Given the description of an element on the screen output the (x, y) to click on. 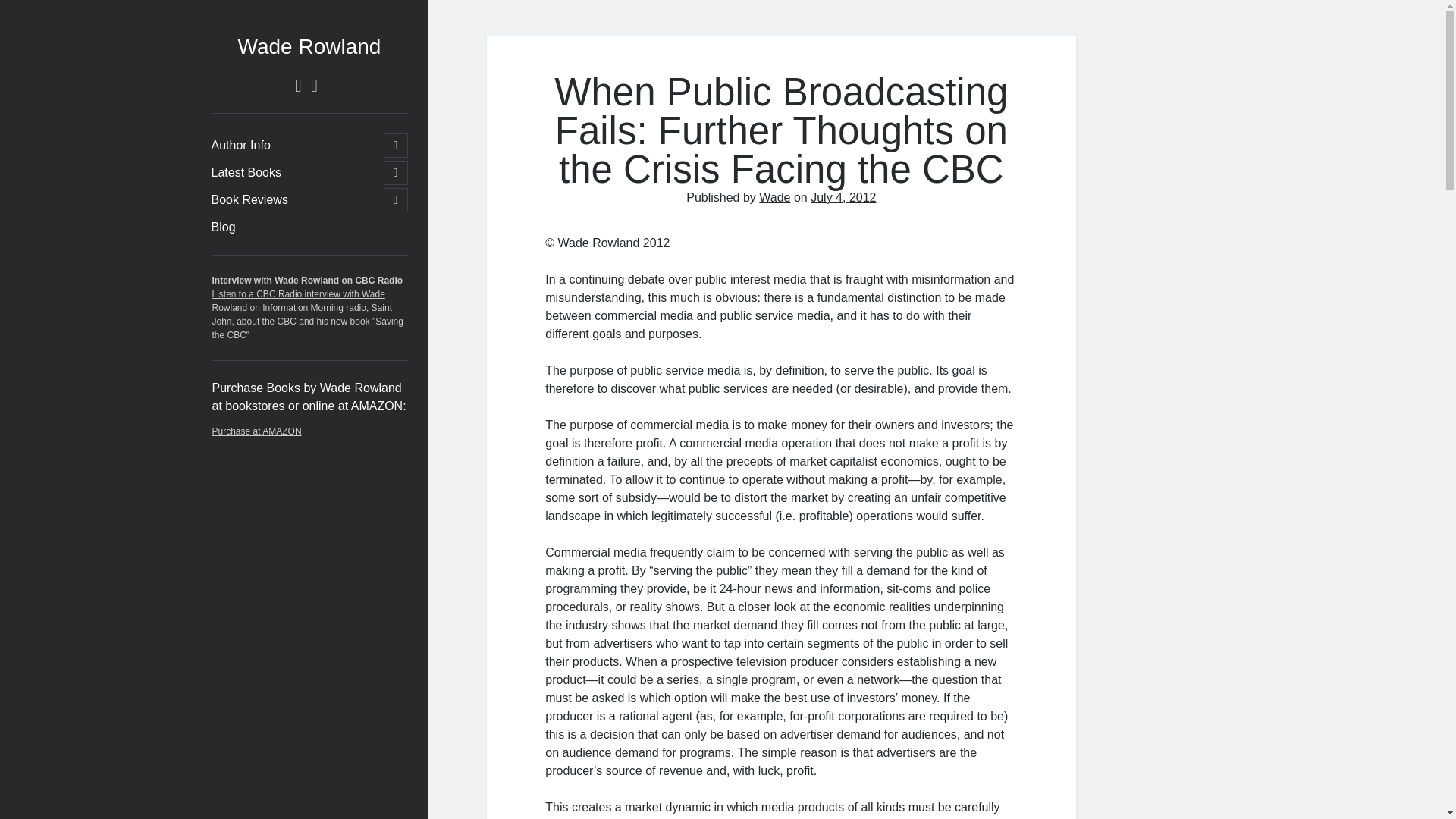
open child menu (395, 172)
Book Reviews (248, 199)
open child menu (395, 200)
Blog (222, 227)
open child menu (395, 145)
Latest Books by author Wade Rowland (246, 172)
Listen to a CBC Radio interview with Wade Rowland (298, 300)
Wade Rowland (309, 46)
Wade (774, 196)
Author Info (240, 145)
July 4, 2012 (843, 196)
Latest Books (246, 172)
Articles by author Wade Rowland (222, 227)
Purchase at AMAZON (256, 430)
